Given the description of an element on the screen output the (x, y) to click on. 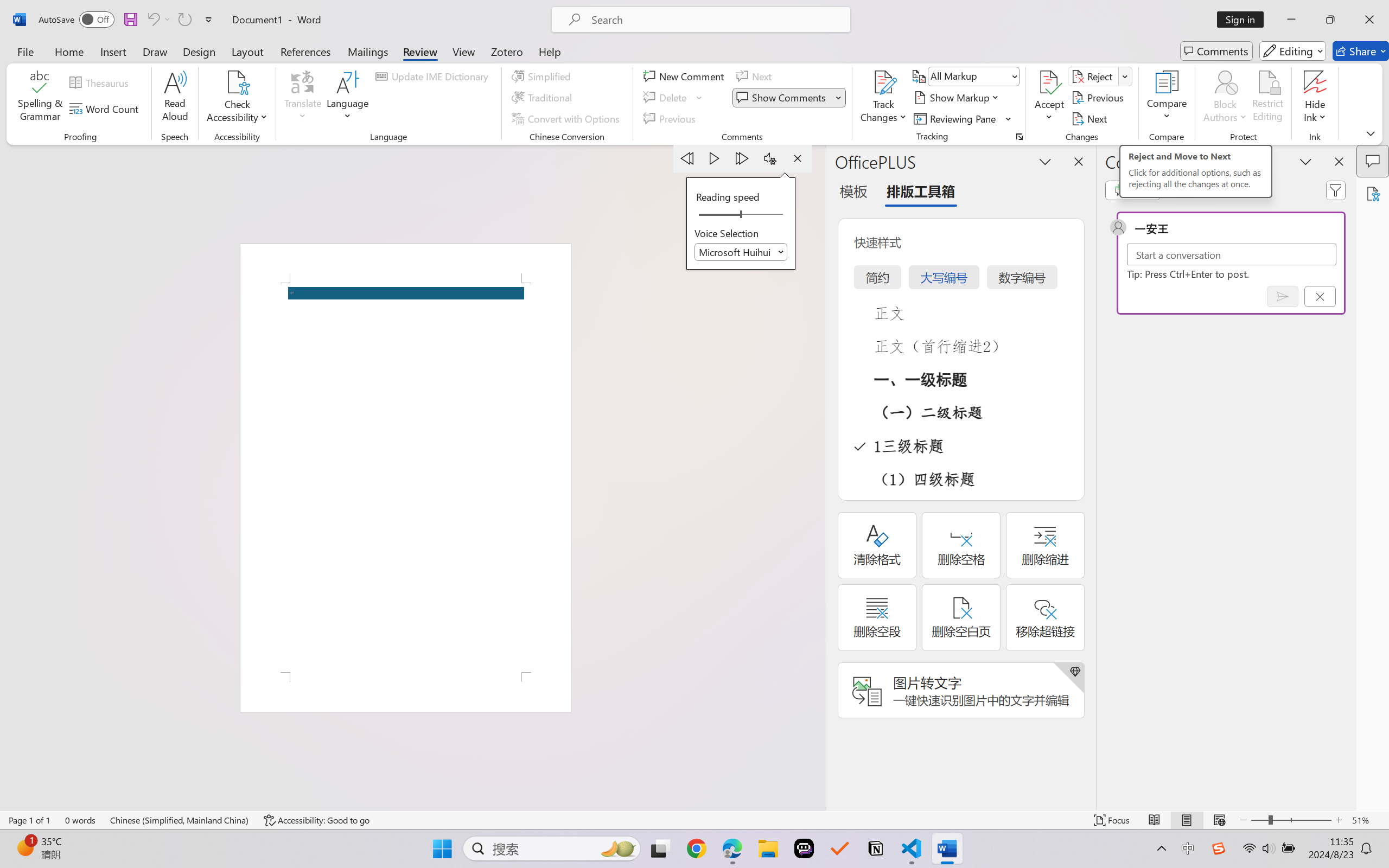
Hide Ink (1315, 97)
Cancel (1320, 296)
Hide Ink (1315, 81)
Display for Review (973, 75)
Post comment (Ctrl + Enter) (1282, 296)
New comment (1132, 190)
